Given the description of an element on the screen output the (x, y) to click on. 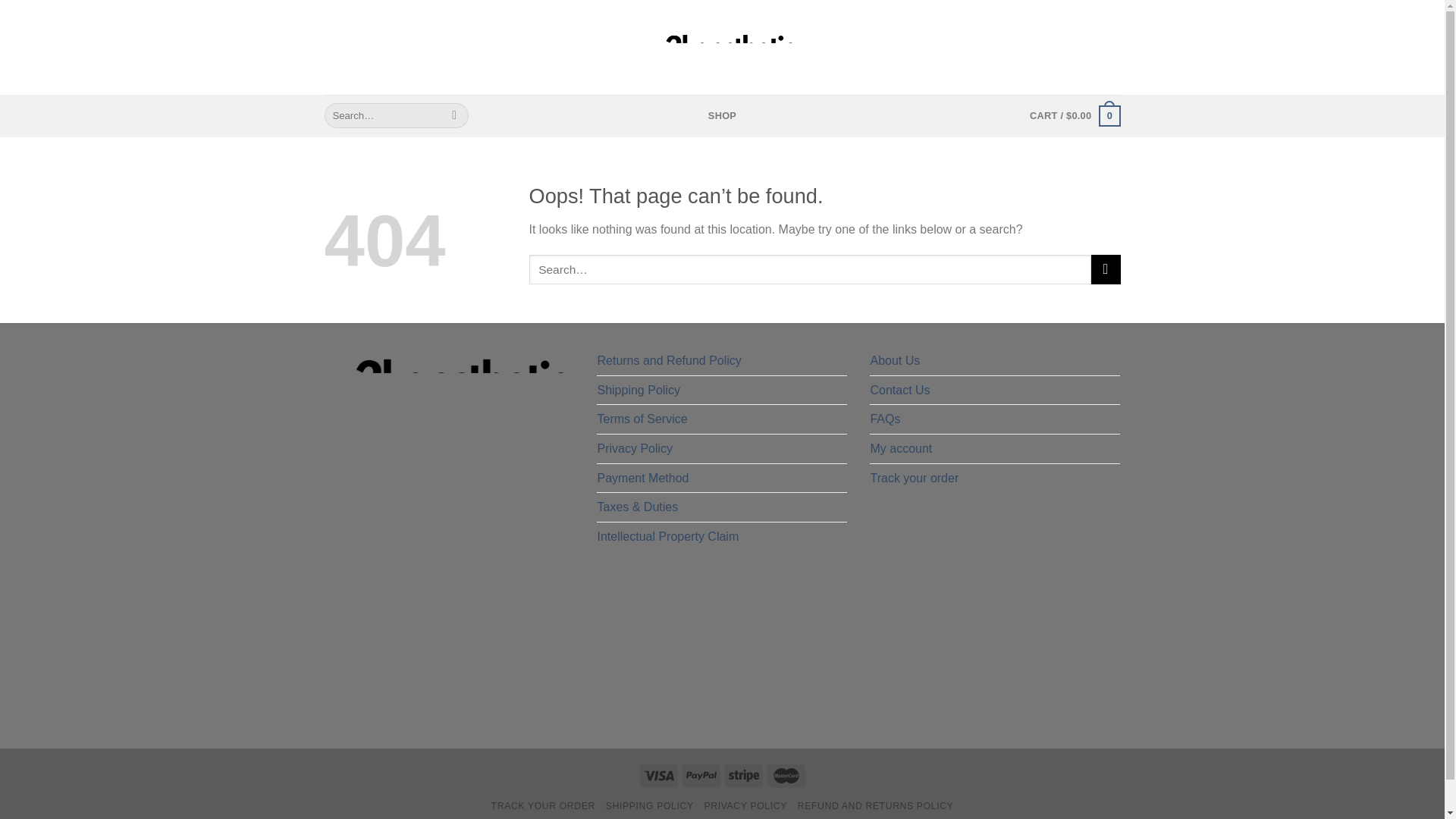
PRIVACY POLICY (744, 805)
Search (454, 115)
Privacy Policy (634, 448)
Shipping Policy (637, 389)
TRACK YOUR ORDER (543, 805)
REFUND AND RETURNS POLICY (875, 805)
FAQs (884, 419)
Terms of Service (641, 419)
Returns and Refund Policy (668, 360)
SHIPPING POLICY (649, 805)
